Given the description of an element on the screen output the (x, y) to click on. 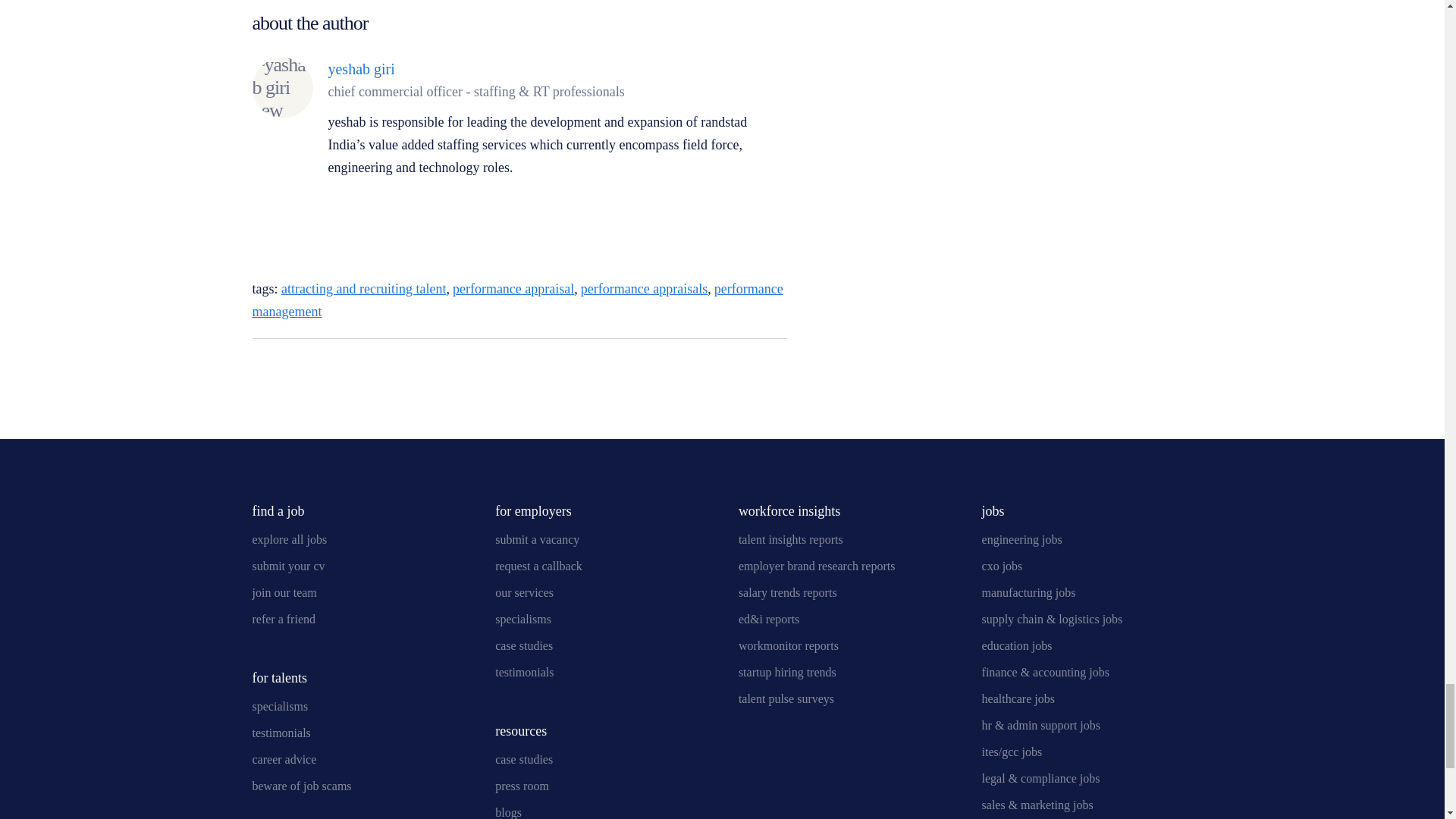
share this article on linkedin (695, 365)
Linkedin-filled (338, 205)
print this article (289, 368)
email this article (258, 368)
share this article on facebook (774, 365)
share this article on twitter (735, 365)
